Given the description of an element on the screen output the (x, y) to click on. 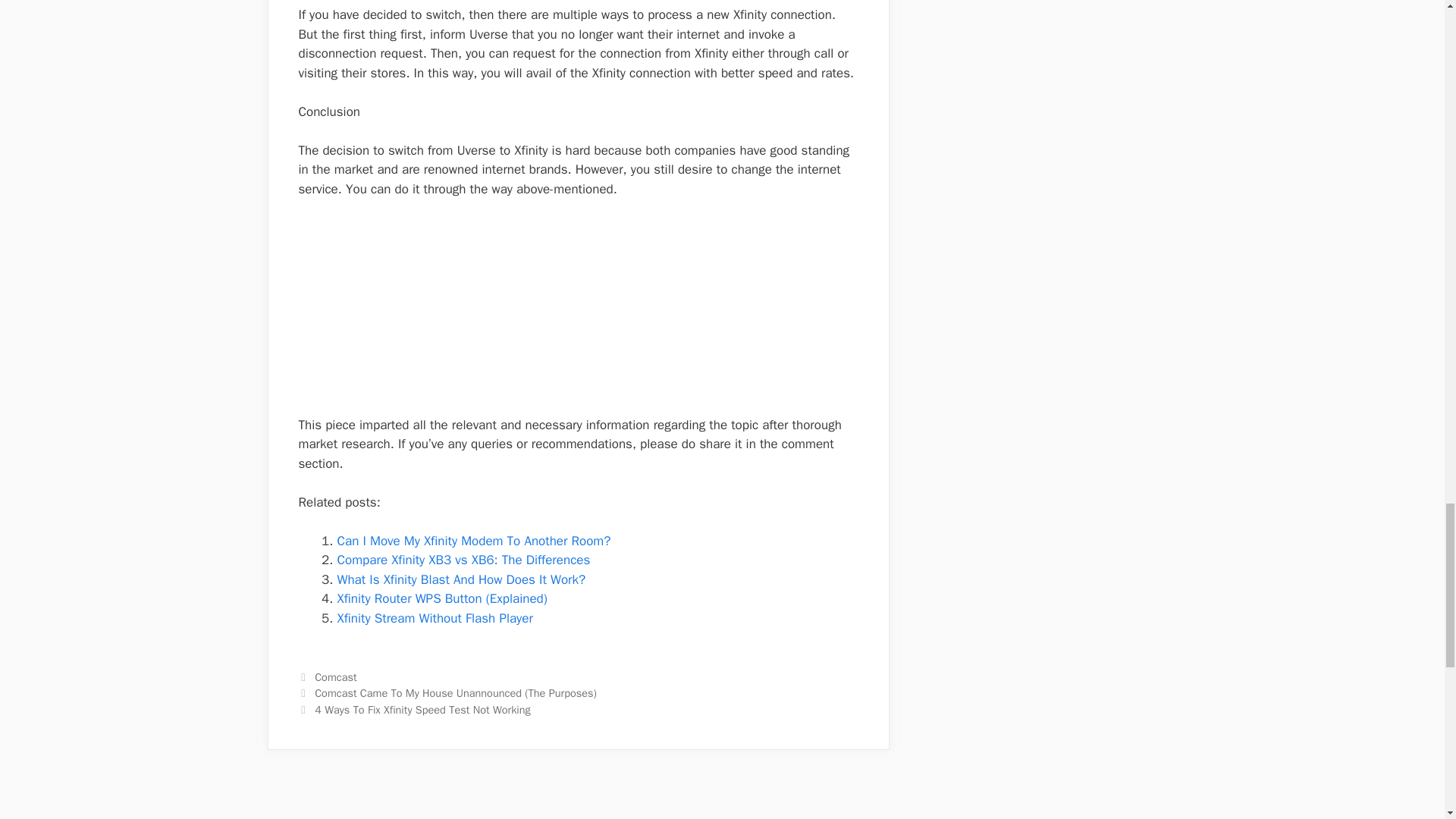
Xfinity Stream Without Flash Player (434, 618)
Compare Xfinity XB3 vs XB6: The Differences (462, 560)
What Is Xfinity Blast And How Does It Work? (460, 579)
Can I Move My Xfinity Modem To Another Room? (473, 540)
Previous (447, 693)
Next (414, 709)
What Is Xfinity Blast And How Does It Work? (460, 579)
Compare Xfinity XB3 vs XB6: The Differences (462, 560)
Can I Move My Xfinity Modem To Another Room? (473, 540)
